Given the description of an element on the screen output the (x, y) to click on. 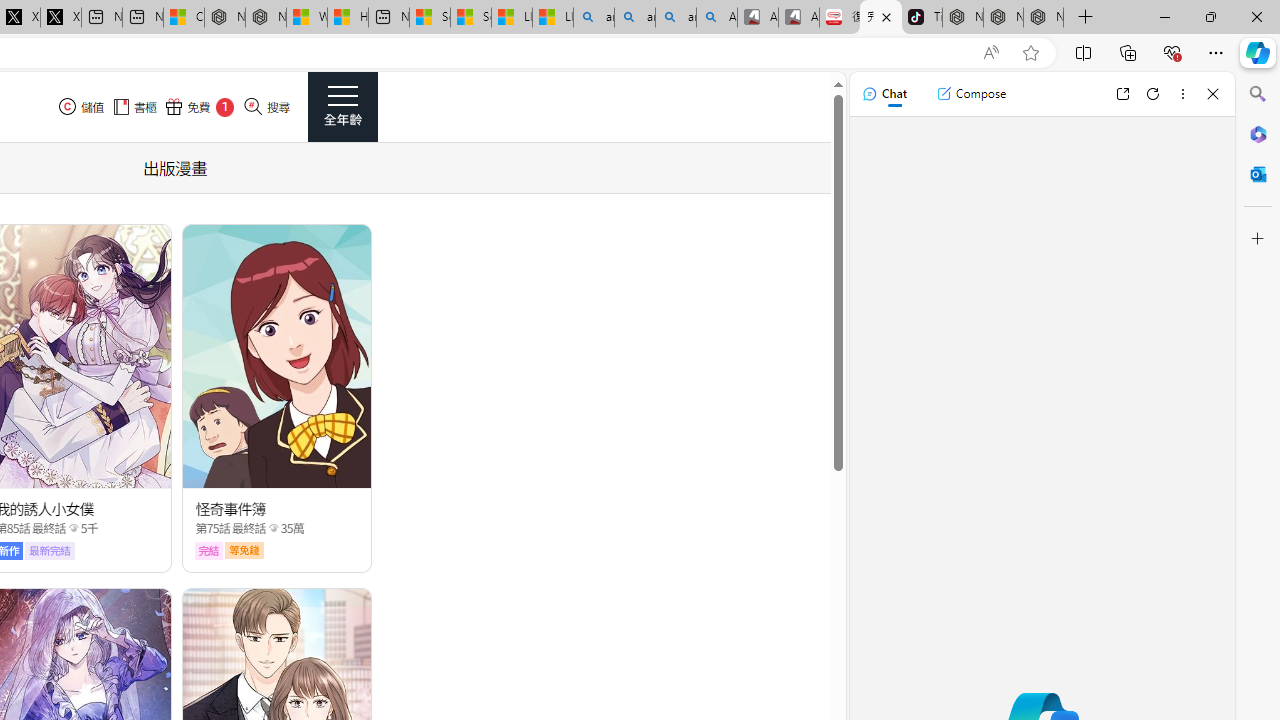
Amazon Echo Robot - Search Images (717, 17)
Class: thumb_img (277, 356)
Class: side_menu_btn actionRightMenuBtn (342, 106)
Outlook (1258, 174)
